Given the description of an element on the screen output the (x, y) to click on. 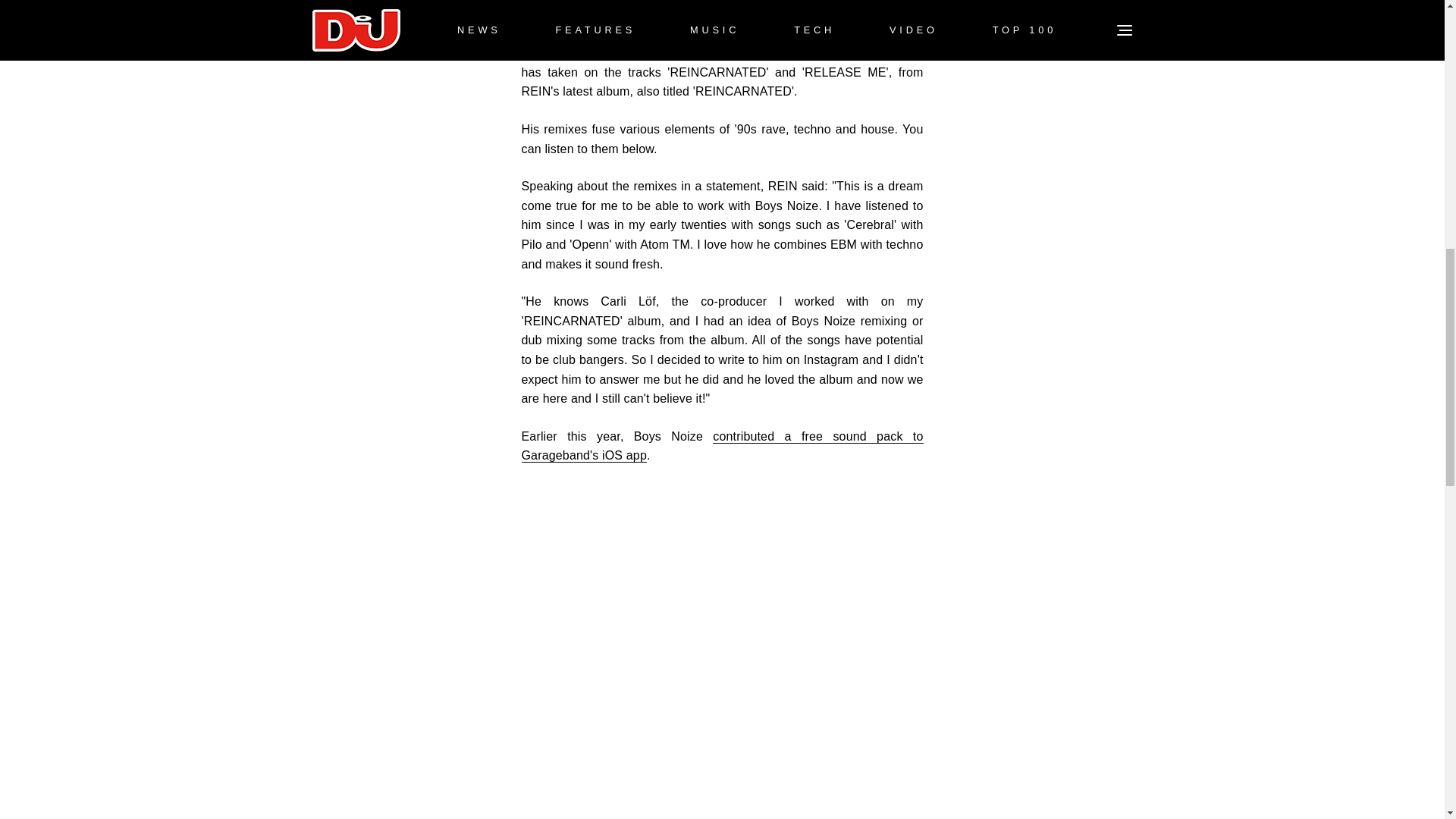
YouTube video player (722, 603)
